Given the description of an element on the screen output the (x, y) to click on. 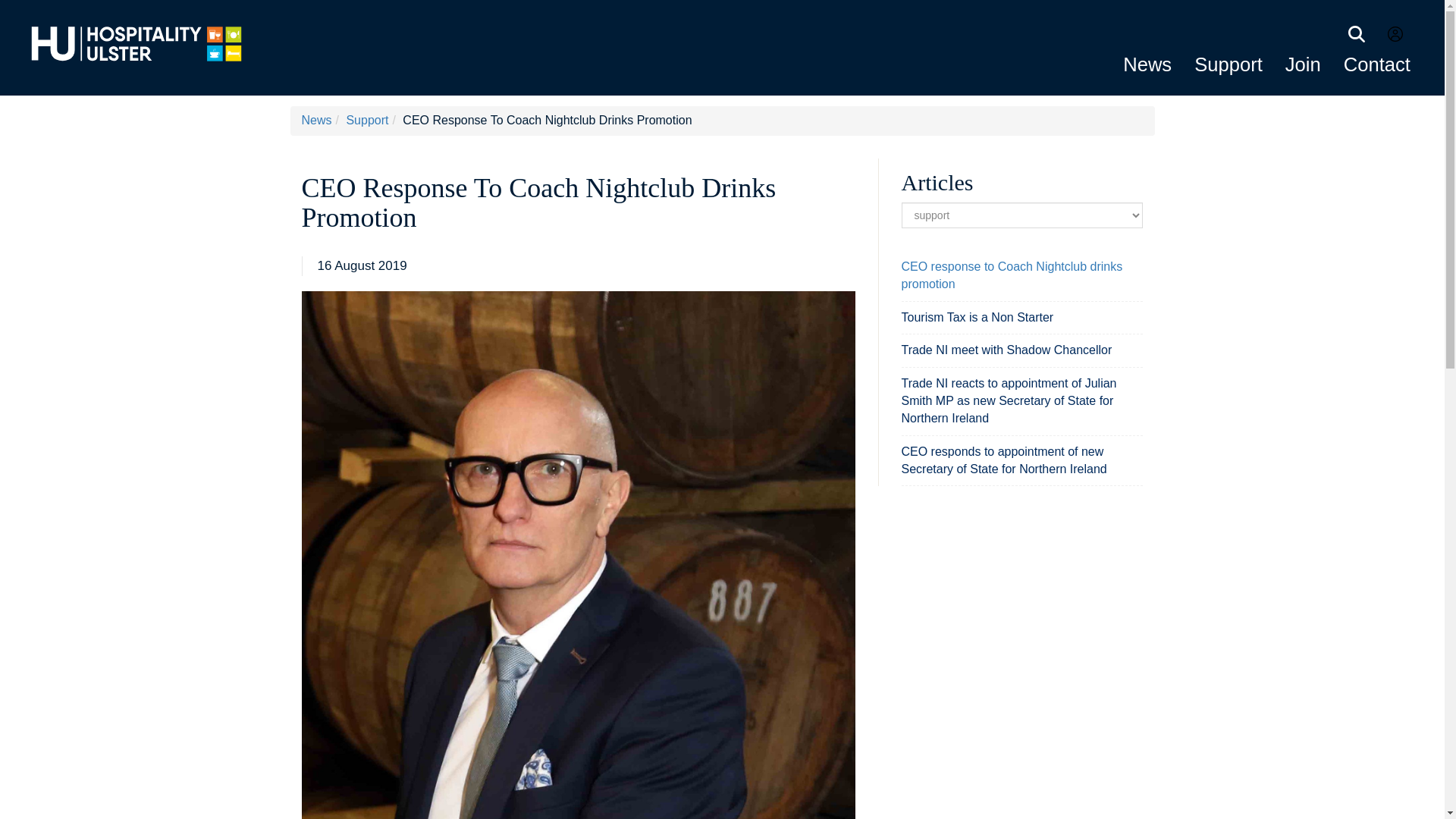
Contact (1377, 64)
Support (1228, 64)
Link to news (1147, 64)
Link to support (1228, 64)
Trade NI meet with Shadow Chancellor (1006, 349)
News (316, 119)
Tourism Tax is a Non Starter (976, 317)
Link to contact (1377, 64)
